Given the description of an element on the screen output the (x, y) to click on. 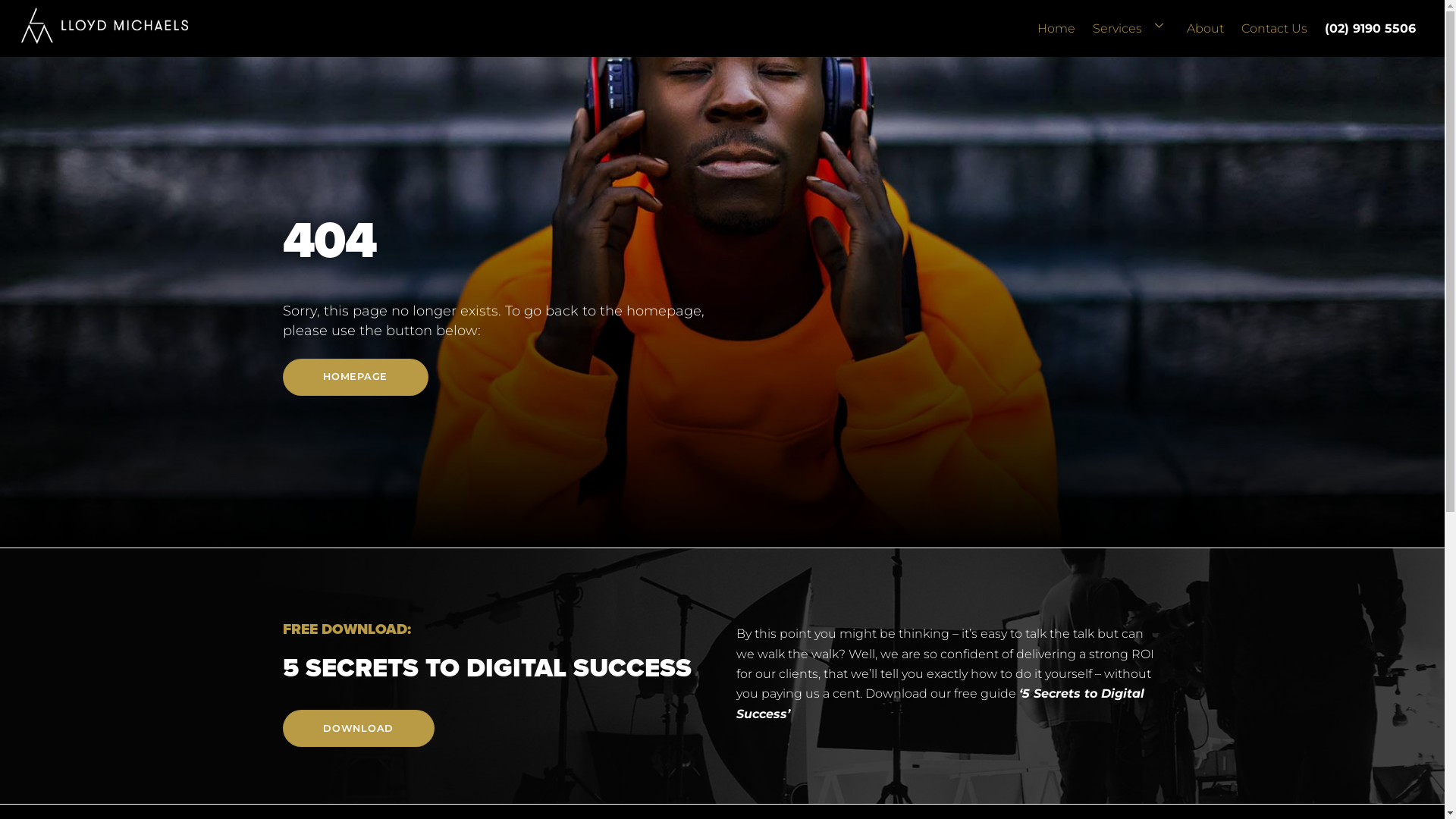
(02) 9190 5506 Element type: text (1370, 23)
Services Element type: text (1130, 23)
Home Element type: text (1056, 23)
HOMEPAGE Element type: text (354, 376)
Lloyd Michaels Element type: hover (104, 36)
About Element type: text (1204, 23)
DOWNLOAD Element type: text (357, 727)
LloydMichaels_Logo_Horizontal_WithoutStrapline_White Element type: hover (104, 25)
Contact Us Element type: text (1274, 23)
